Given the description of an element on the screen output the (x, y) to click on. 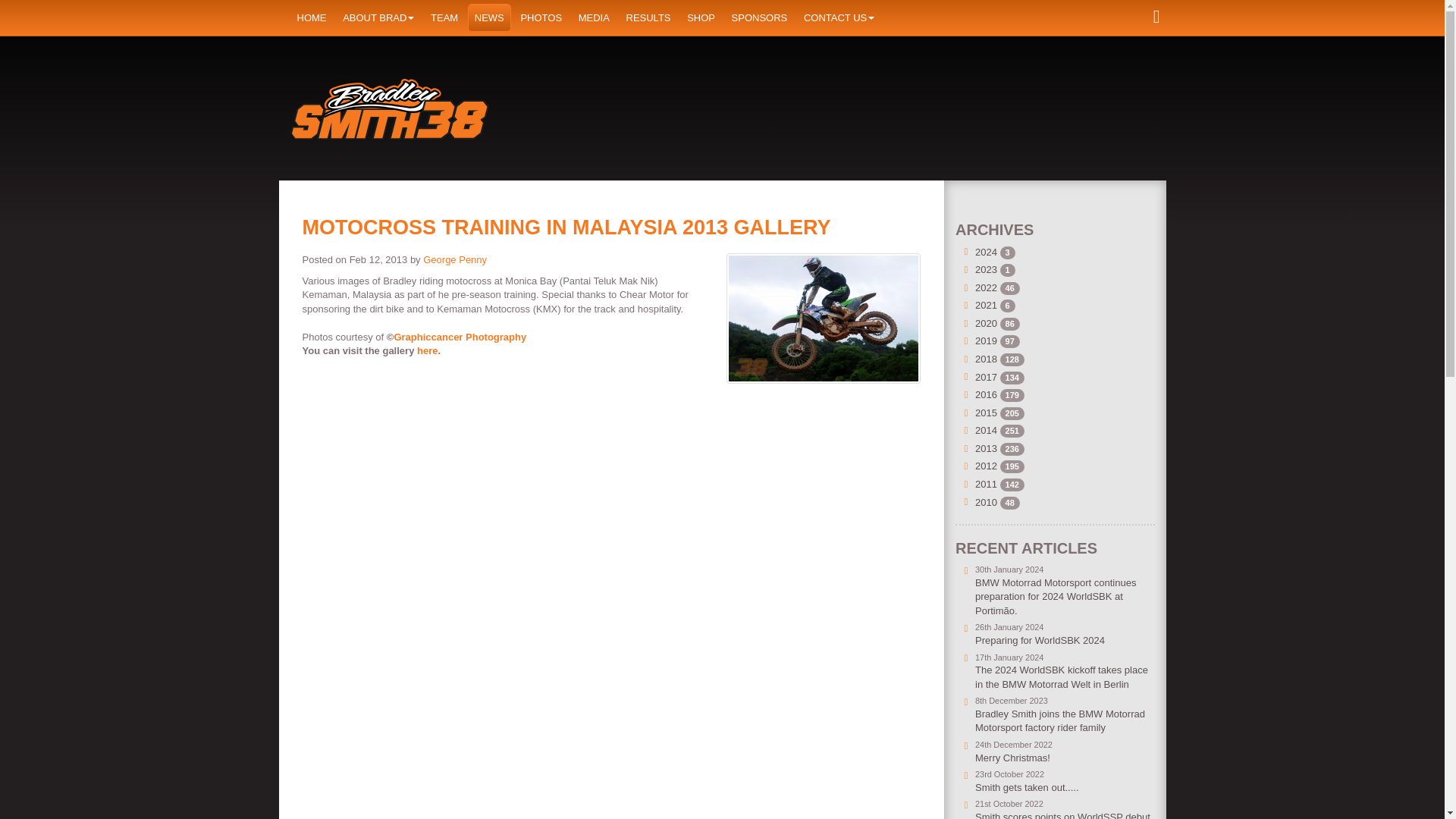
SPONSORS (759, 17)
2015 (986, 412)
2020 (986, 323)
2024 (986, 251)
NEWS (489, 17)
2018 (986, 358)
2013 (986, 448)
George Penny (454, 259)
MEDIA (593, 17)
2022 (986, 287)
